Given the description of an element on the screen output the (x, y) to click on. 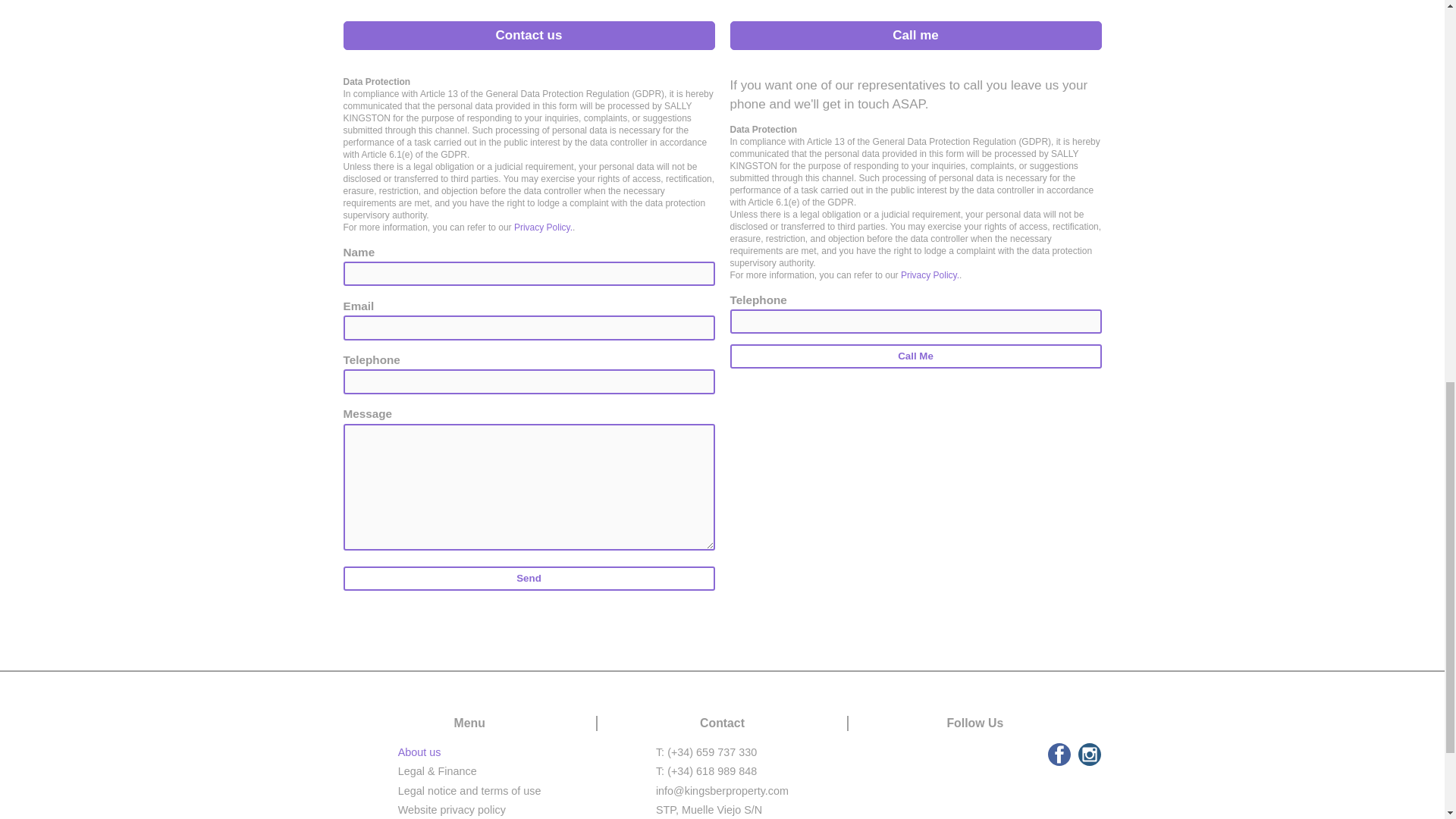
Legal notice and terms of use (469, 790)
Call me (914, 35)
Send (528, 578)
Privacy Policy. (930, 275)
Contact us (528, 35)
Send (528, 578)
Website privacy policy (451, 809)
About us (419, 752)
Call Me (914, 355)
Call Me (914, 355)
Privacy Policy. (542, 226)
